Given the description of an element on the screen output the (x, y) to click on. 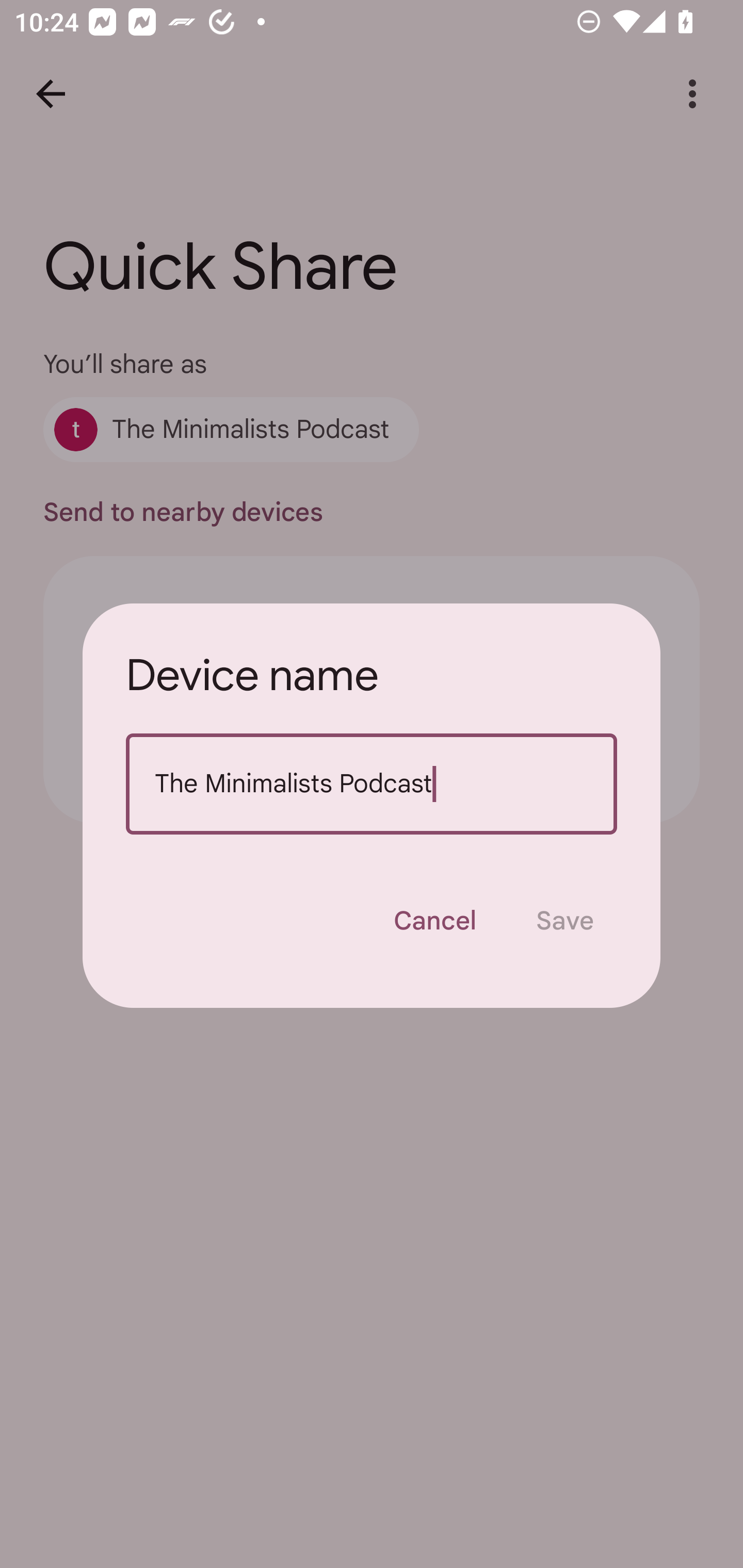
The Minimalists Podcast Device name (371, 783)
Cancel (434, 921)
Save (564, 921)
